Given the description of an element on the screen output the (x, y) to click on. 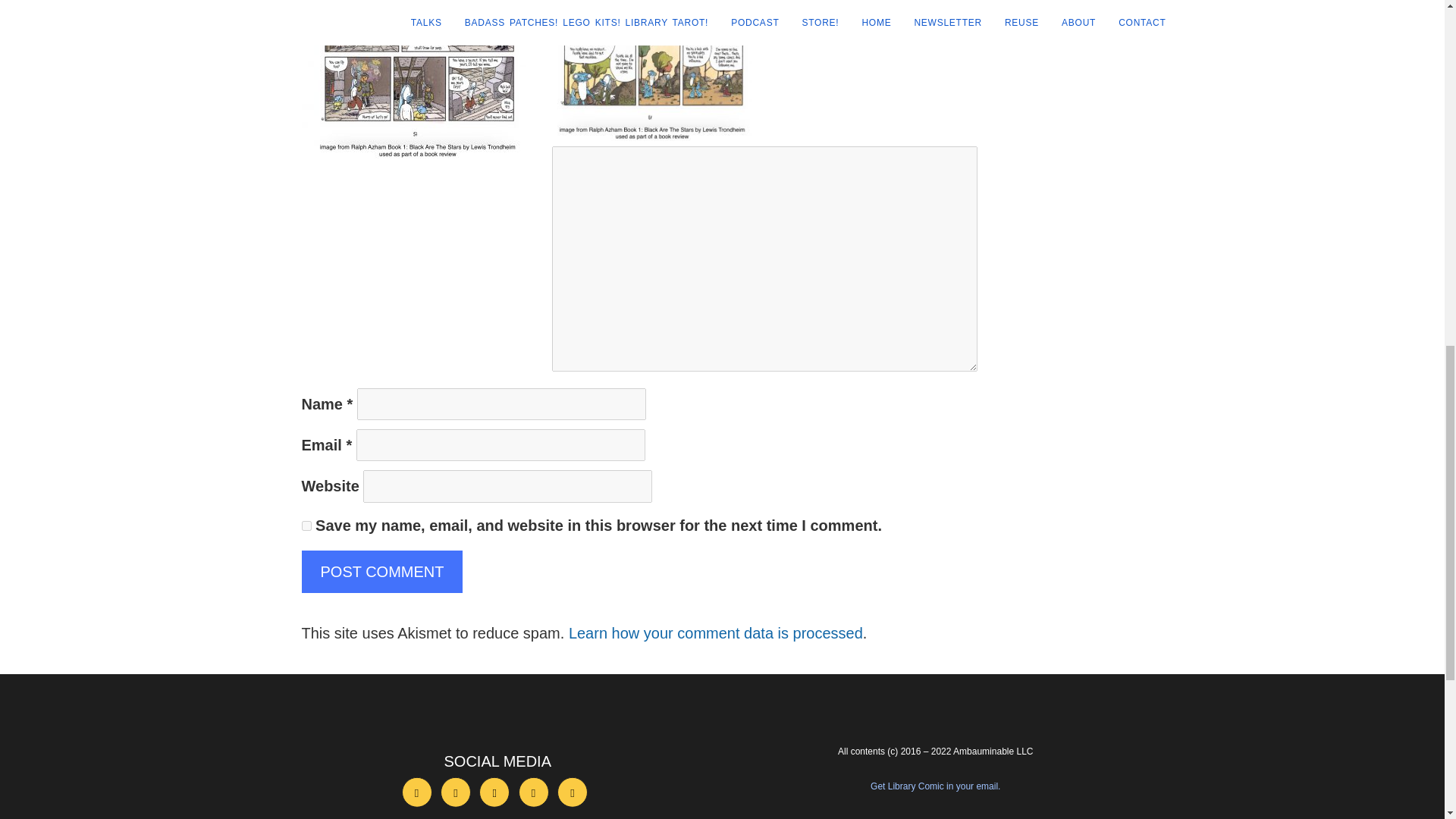
Post Comment (382, 571)
Get Library Comic in your email. (935, 786)
Learn how your comment data is processed (716, 632)
tumblr icon (533, 792)
instagram icon (494, 792)
facebook icon (416, 792)
rss icon (572, 792)
twitter icon (455, 792)
Post Comment (382, 571)
yes (306, 525)
